Given the description of an element on the screen output the (x, y) to click on. 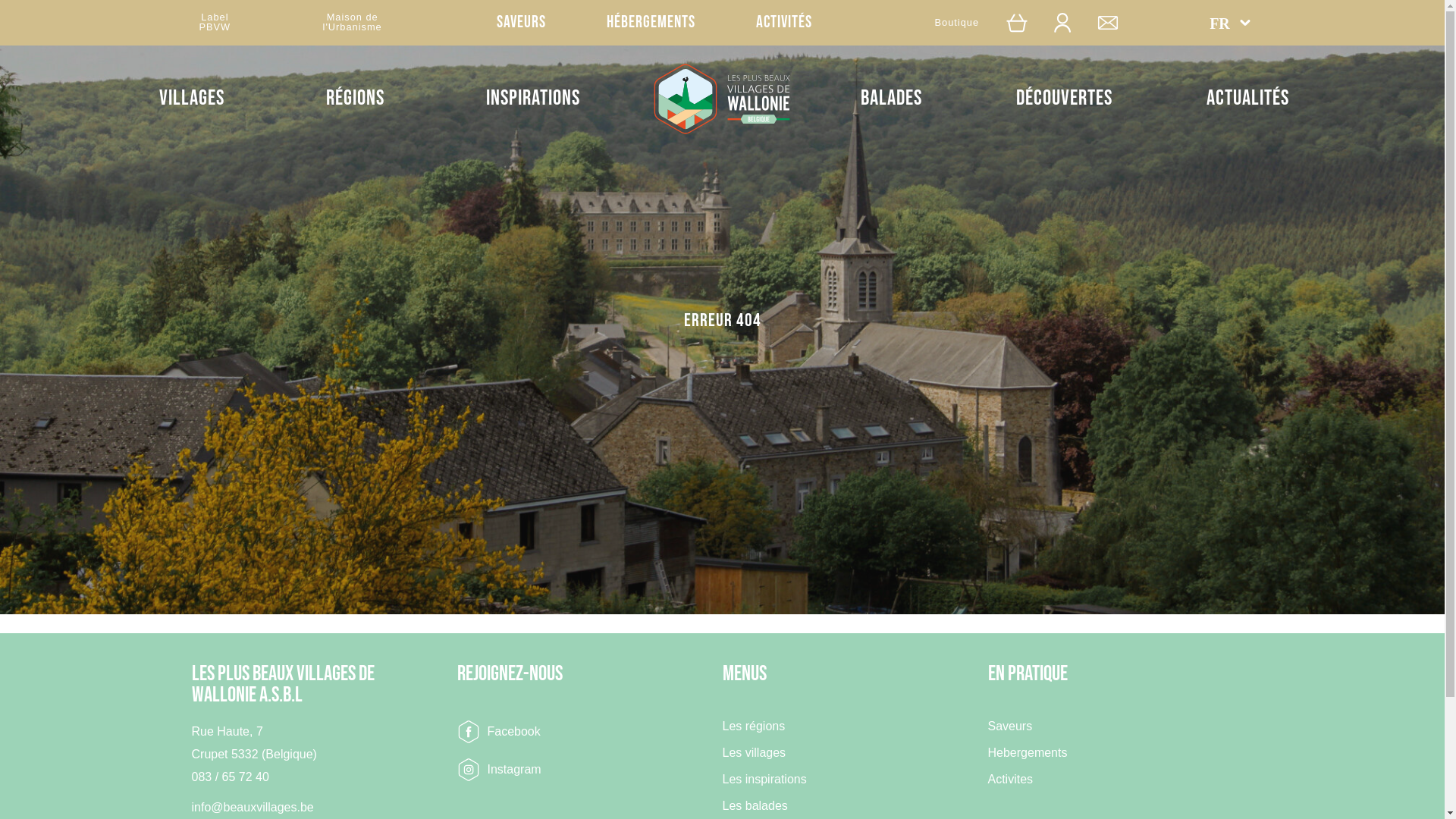
FR Element type: text (1229, 22)
Les villages Element type: text (753, 755)
Instagram Element type: text (498, 769)
Boutique Element type: text (956, 22)
Saveurs Element type: text (521, 22)
Les inspirations Element type: text (763, 782)
Maison de
l'Urbanisme Element type: text (352, 22)
Hebergements Element type: text (1026, 755)
Balades Element type: text (891, 97)
Villages Element type: text (191, 97)
Facebook Element type: text (497, 731)
Saveurs Element type: text (1009, 729)
Label
PBVW Element type: text (214, 22)
Inspirations Element type: text (533, 97)
Activites Element type: text (1009, 782)
